Given the description of an element on the screen output the (x, y) to click on. 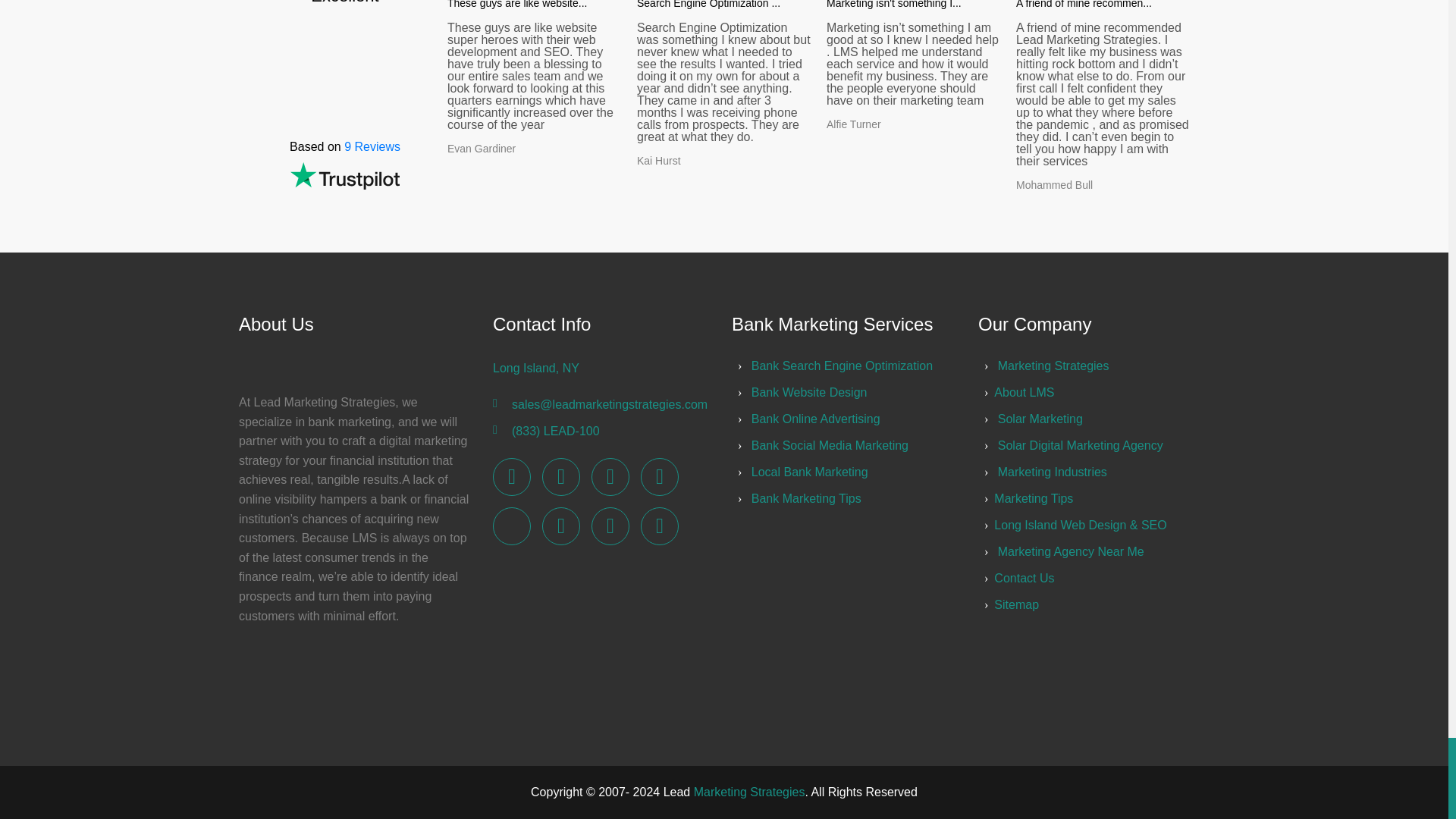
Reputation Management (815, 418)
Local Bank Marketing (809, 472)
Lead Marketing Strategies (659, 476)
Solar Marketing Tips (806, 498)
Search Engine Optimization (842, 365)
SEO Copywriting (829, 445)
Lead Marketing Strategies (512, 476)
Lead Marketing Strategies (560, 525)
PPC Advertising (809, 391)
Lead Marketing Strategies (560, 476)
Lead Marketing Strategies (659, 525)
Lead Marketing Strategies (609, 525)
Lead Marketing Strategies (1053, 365)
Lead Marketing Strategies (609, 476)
